Given the description of an element on the screen output the (x, y) to click on. 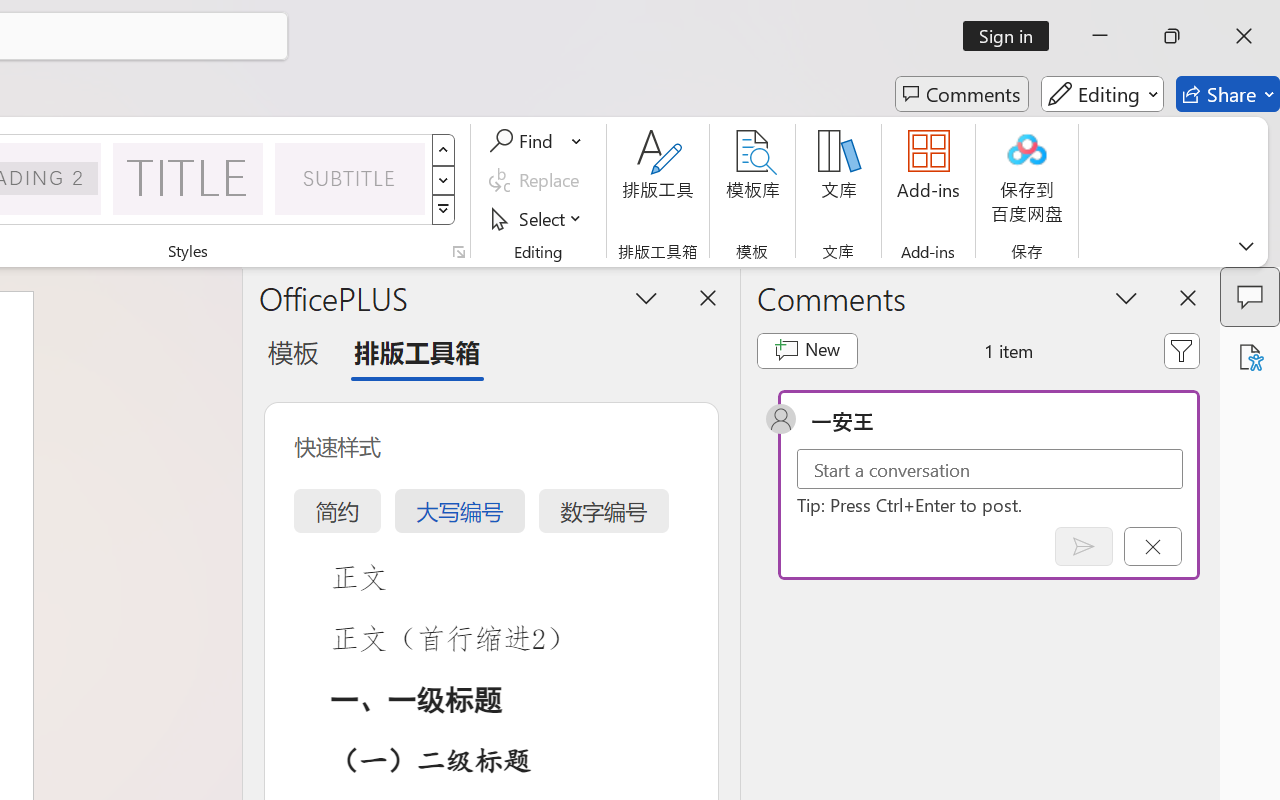
Editing (1101, 94)
Start a conversation (990, 468)
Title (187, 178)
